Given the description of an element on the screen output the (x, y) to click on. 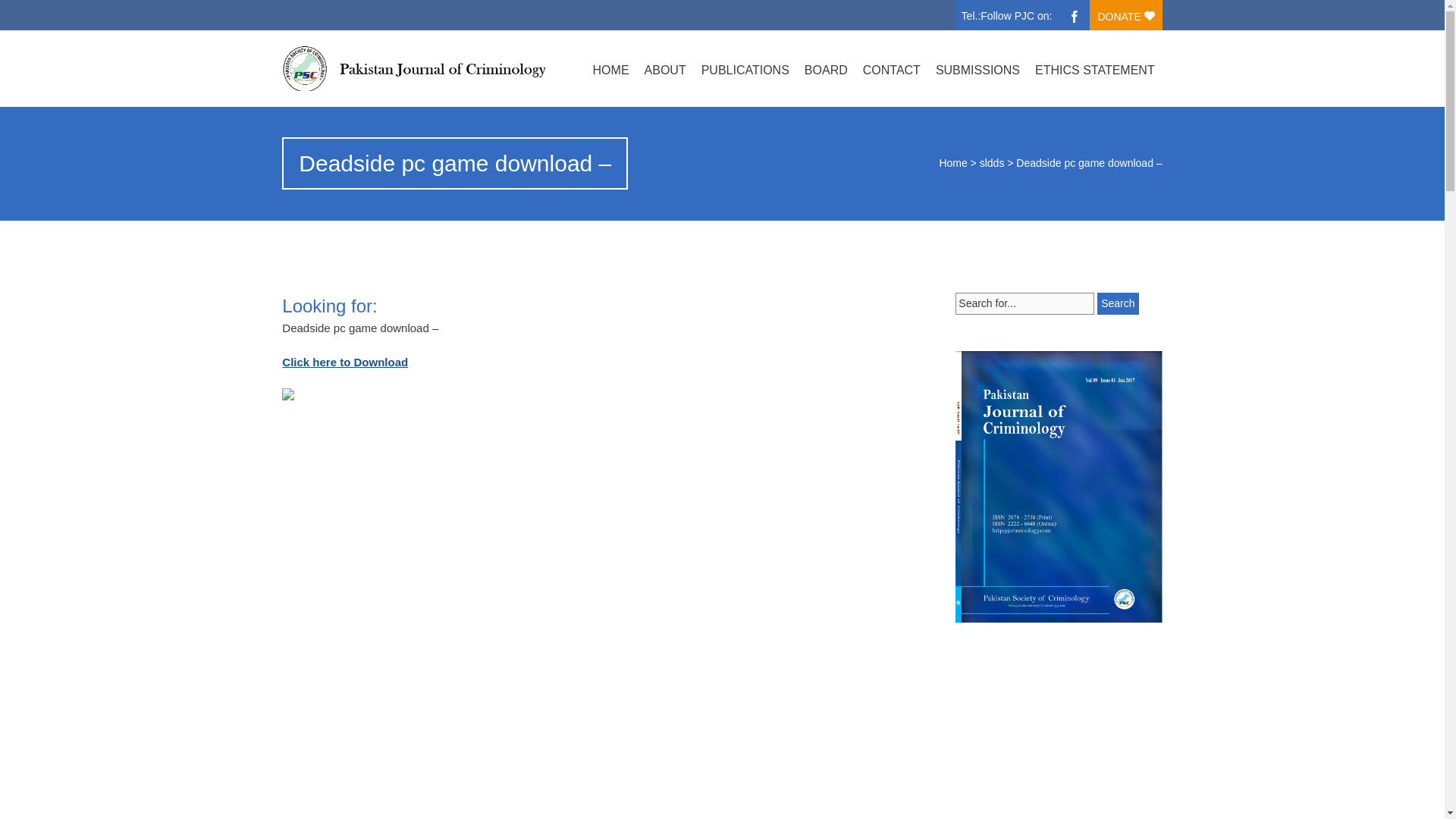
CONTACT (892, 70)
SUBMISSIONS (977, 70)
Tel.:Follow PJC on: (1009, 12)
Search (1117, 303)
ABOUT (665, 70)
Search (1117, 303)
Search for... (1024, 303)
Pakistan Journal of Criminology -  (413, 67)
Facebook (1074, 15)
BOARD (826, 70)
